Given the description of an element on the screen output the (x, y) to click on. 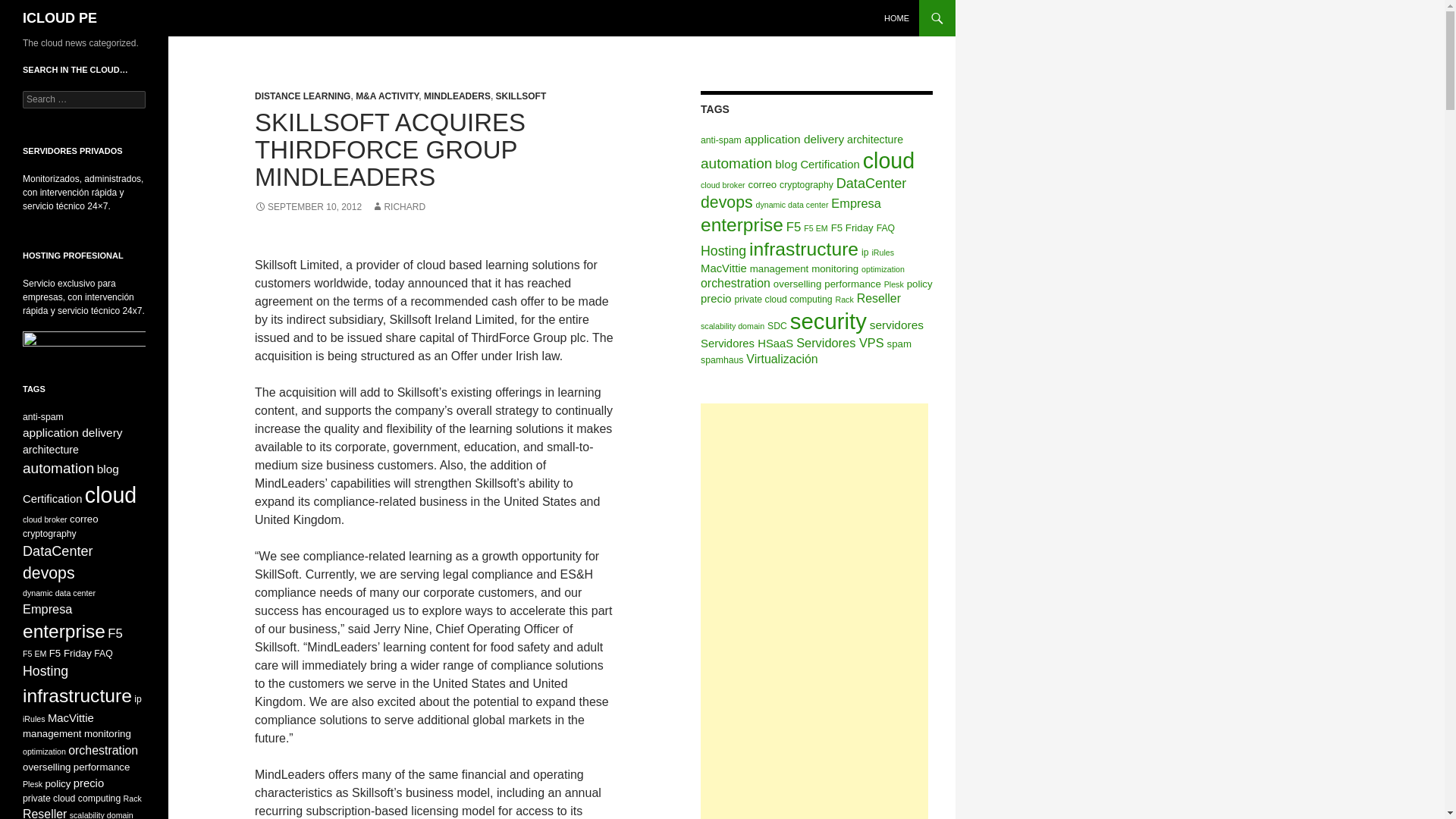
RICHARD (398, 206)
MacVittie (723, 268)
F5 EM (815, 227)
Certification (829, 164)
DataCenter (871, 183)
architecture (874, 139)
correo (762, 184)
cloud broker (722, 184)
automation (735, 163)
cryptography (805, 184)
devops (726, 202)
iRules (881, 252)
F5 (794, 227)
Empresa (855, 202)
infrastructure (804, 249)
